Given the description of an element on the screen output the (x, y) to click on. 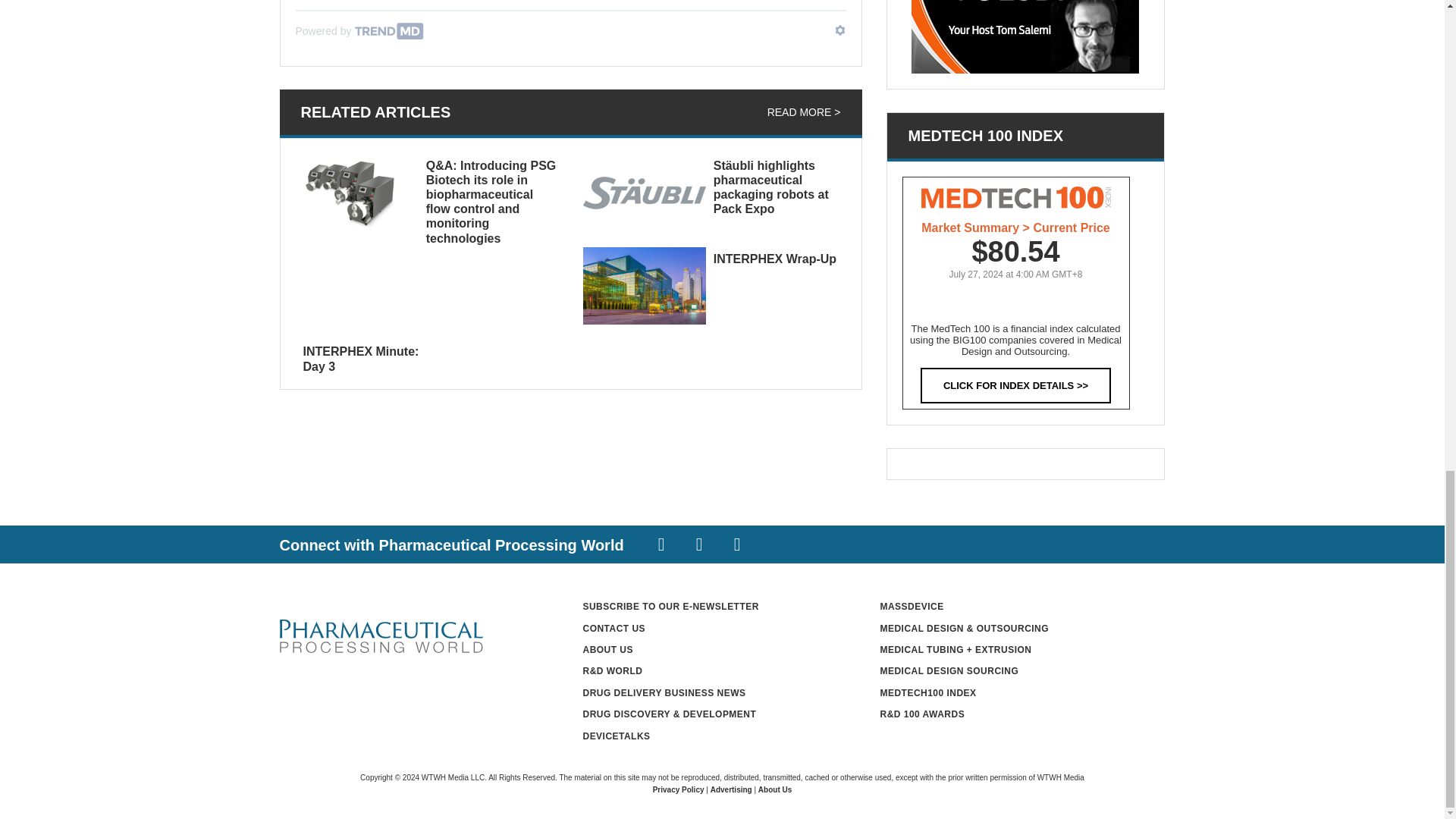
Powered by (359, 30)
INTERPHEX Minute: Day 3 (360, 358)
INTERPHEX Wrap-Up (774, 258)
